Given the description of an element on the screen output the (x, y) to click on. 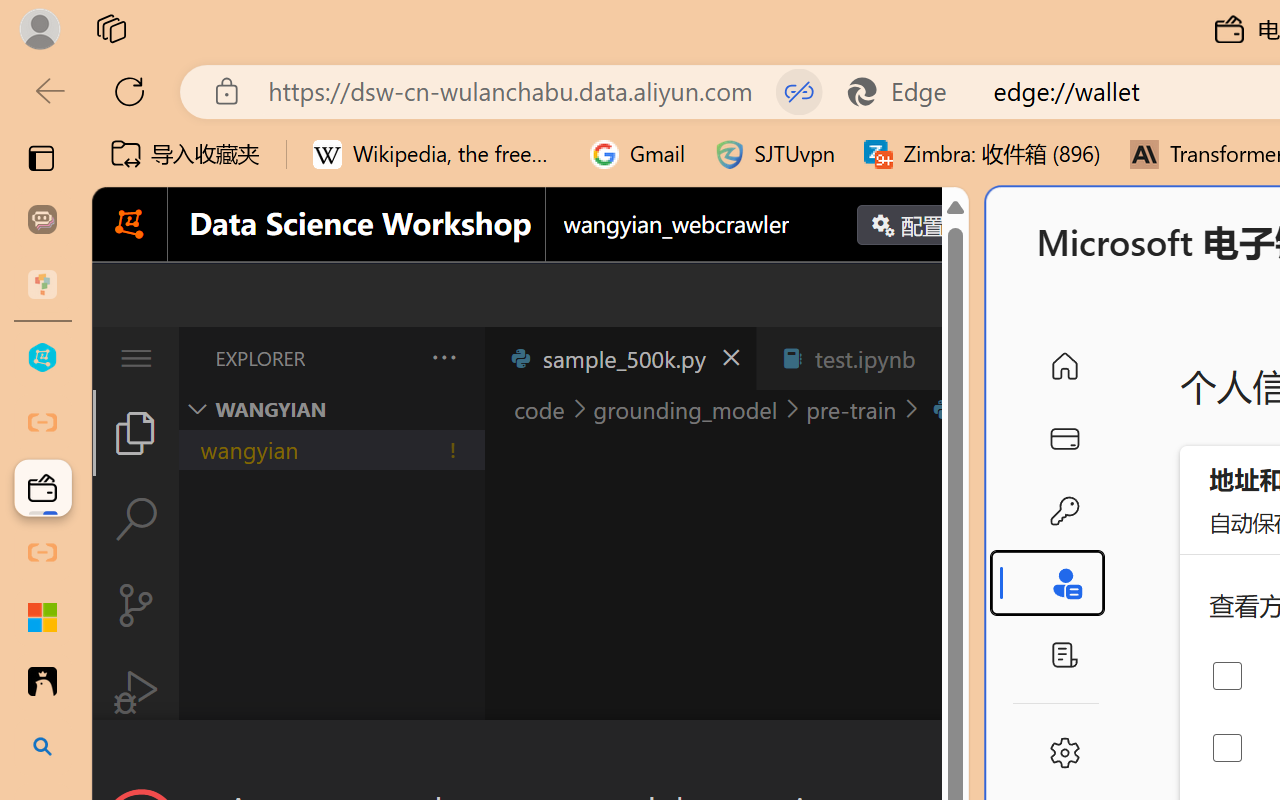
Gmail (637, 154)
Search (Ctrl+Shift+F) (135, 519)
